Given the description of an element on the screen output the (x, y) to click on. 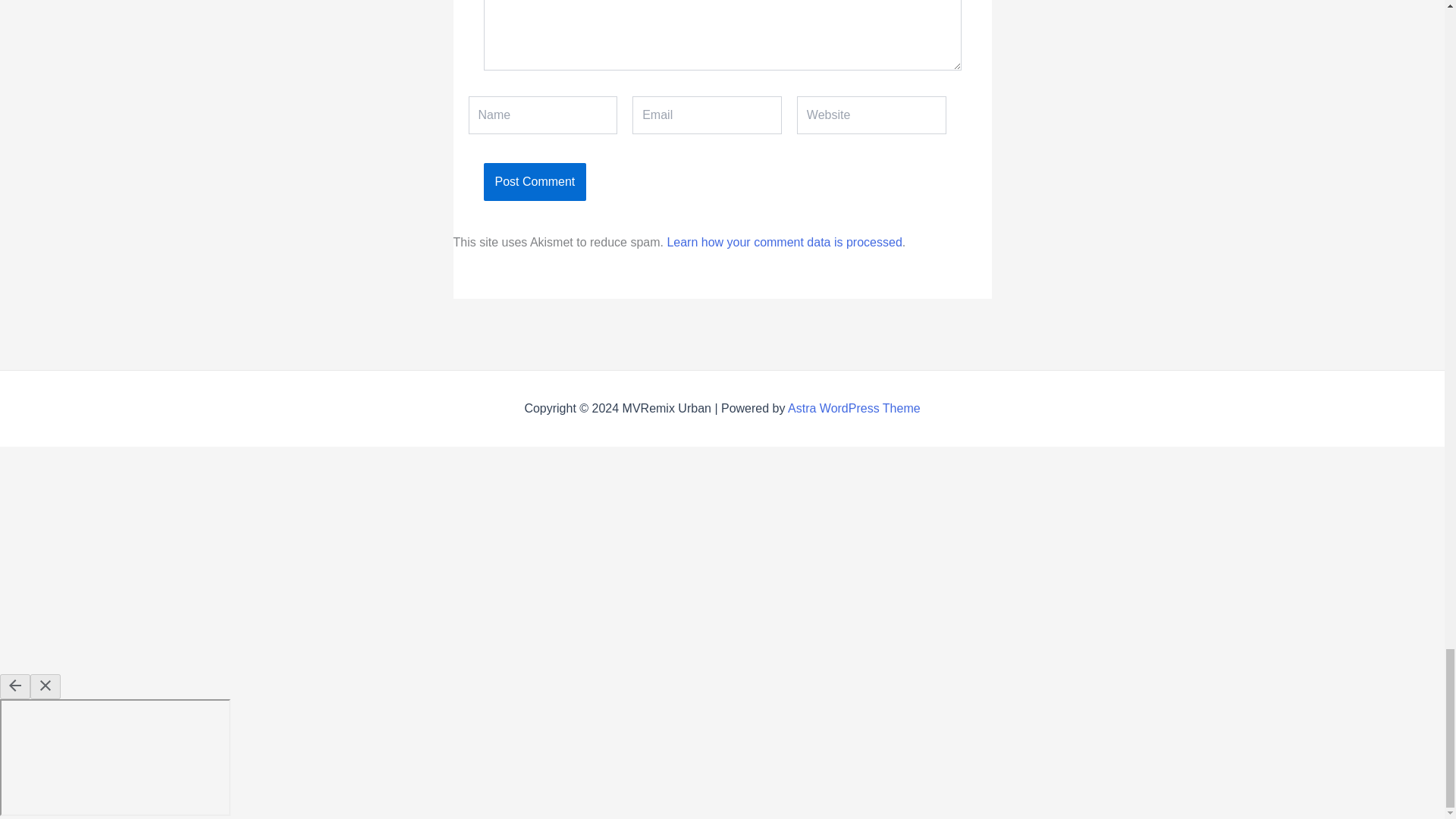
Learn how your comment data is processed (783, 241)
Post Comment (534, 181)
Astra WordPress Theme (853, 408)
Post Comment (534, 181)
